Given the description of an element on the screen output the (x, y) to click on. 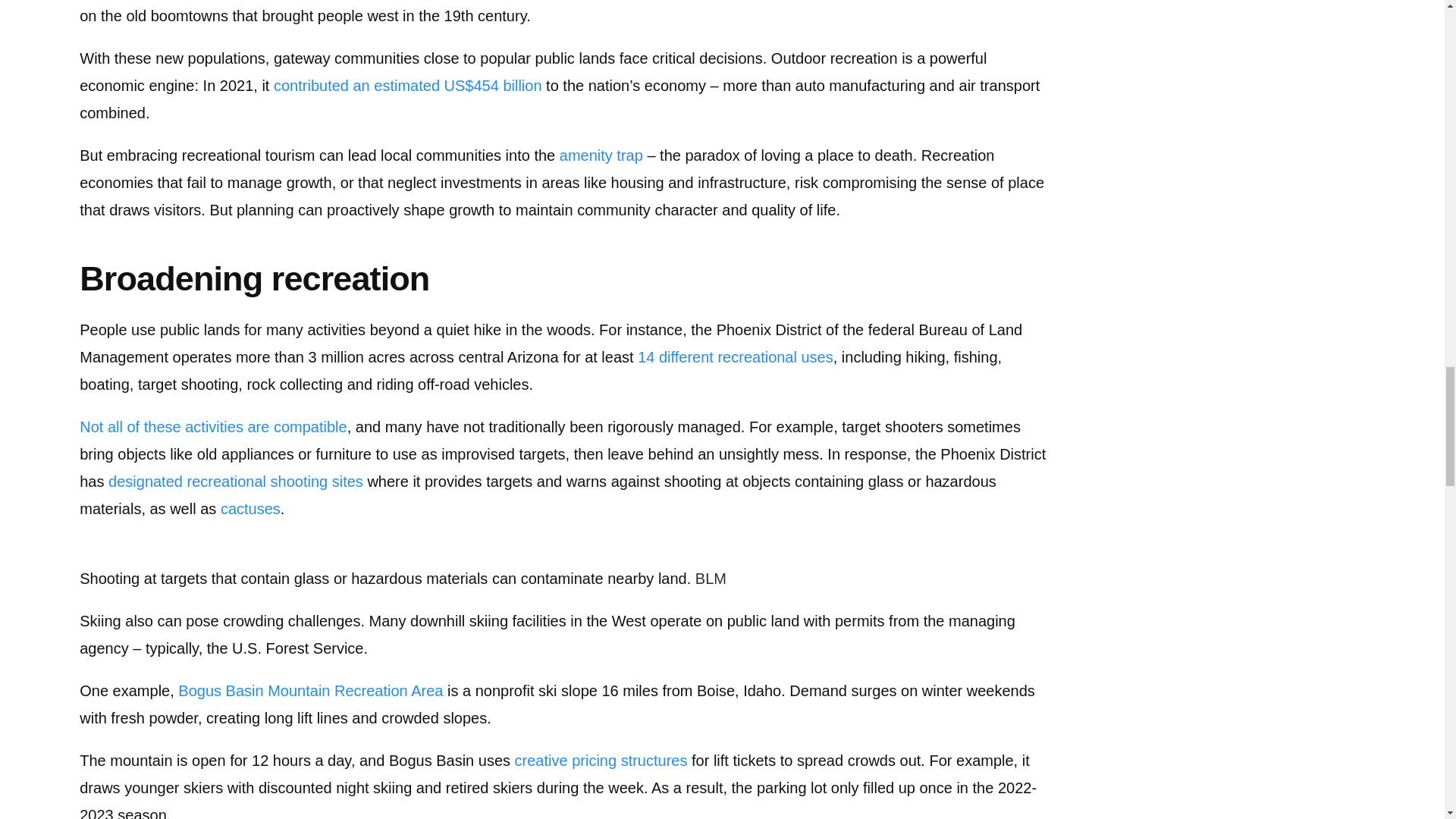
cactuses (251, 508)
Bogus Basin Mountain Recreation Area (309, 690)
amenity trap (601, 155)
Not all of these activities are compatible (213, 426)
BLM (710, 578)
14 different recreational uses (734, 356)
designated recreational shooting sites (234, 481)
creative pricing structures (601, 760)
